Given the description of an element on the screen output the (x, y) to click on. 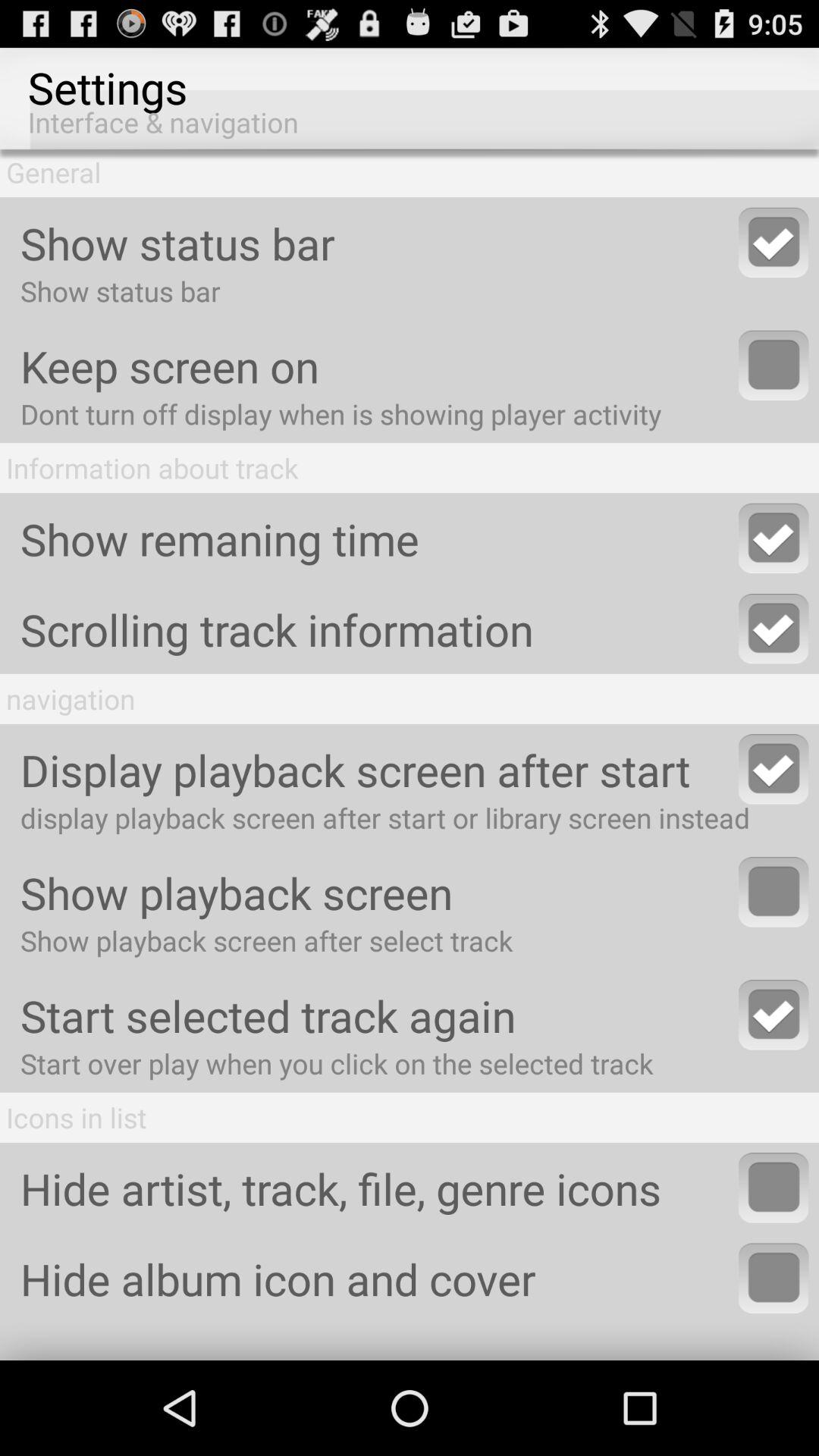
toggle show status bar (773, 242)
